Given the description of an element on the screen output the (x, y) to click on. 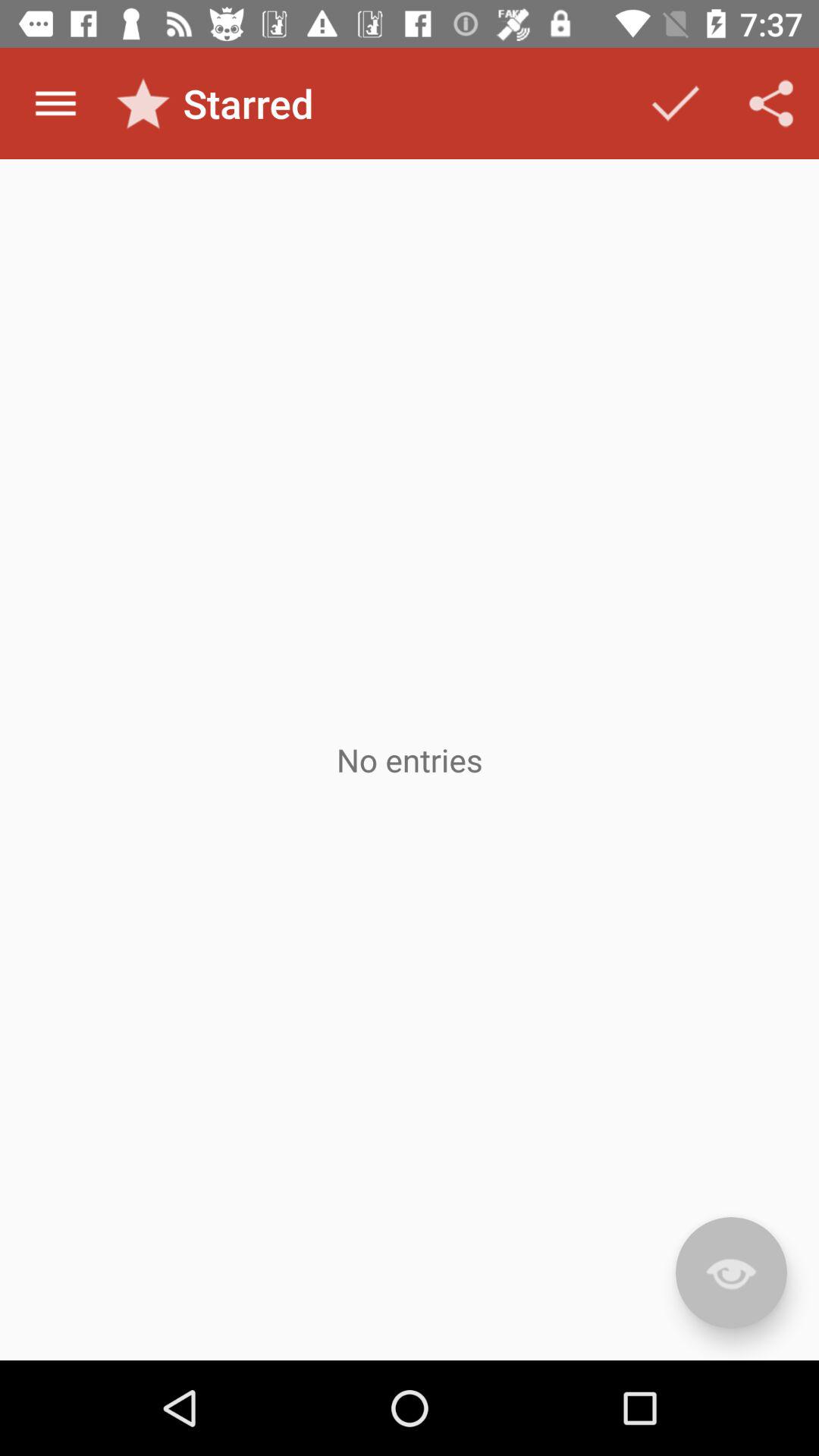
click the app at the center (409, 759)
